Given the description of an element on the screen output the (x, y) to click on. 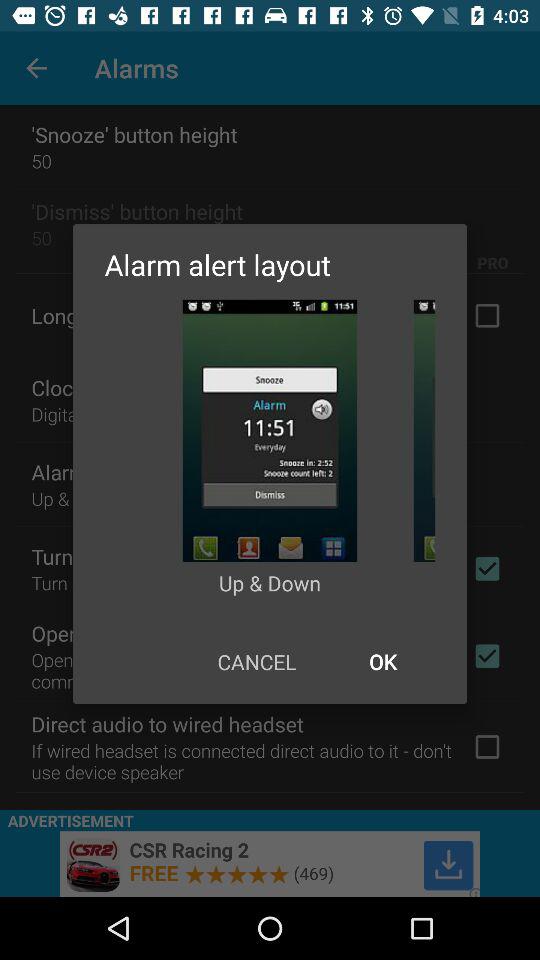
turn on icon next to the ok (256, 661)
